Given the description of an element on the screen output the (x, y) to click on. 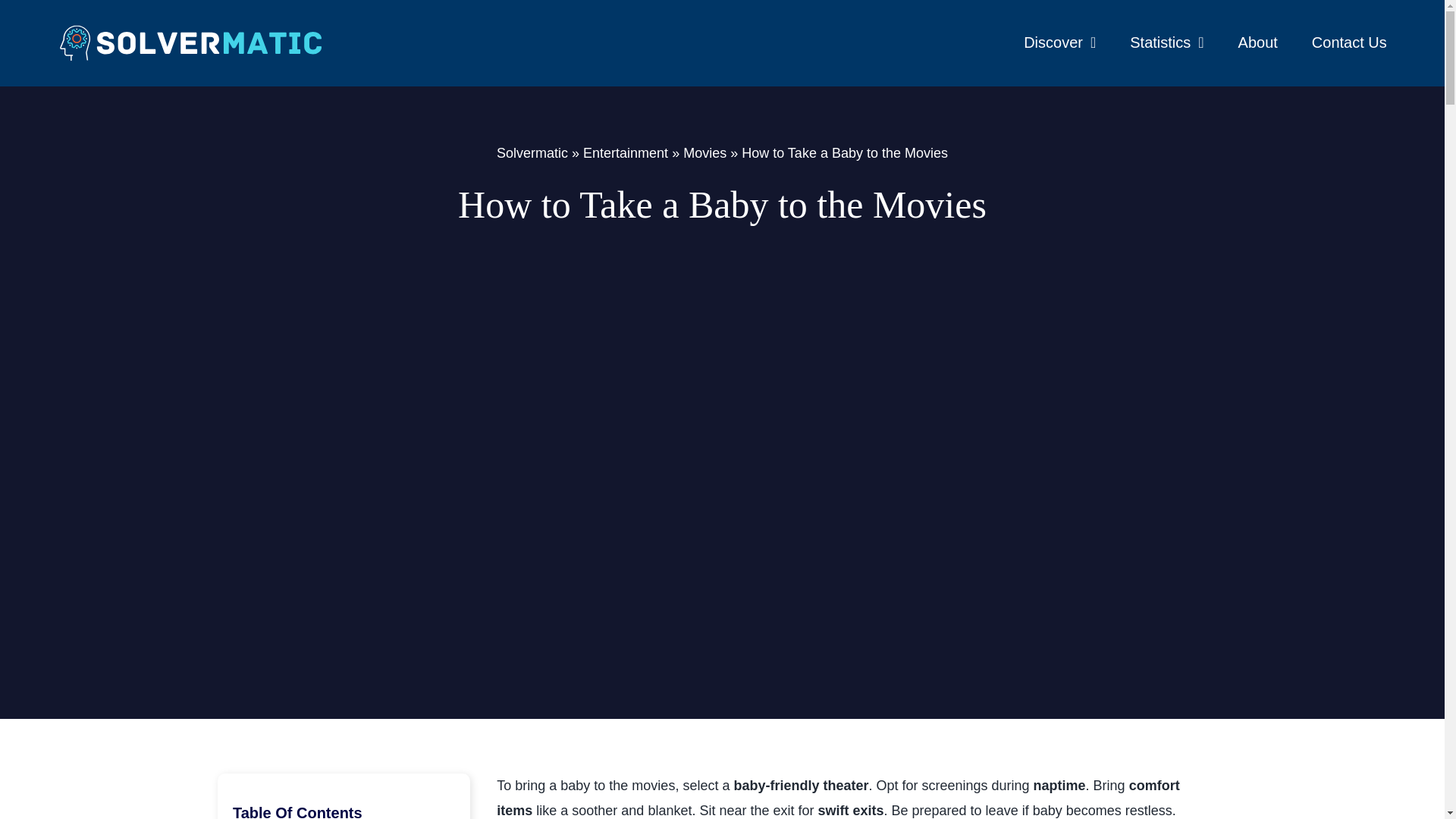
Entertainment (625, 152)
Discover (1059, 43)
Solvermatic (531, 152)
Movies (704, 152)
Contact Us (1349, 43)
About (1258, 43)
Statistics (1166, 43)
